Given the description of an element on the screen output the (x, y) to click on. 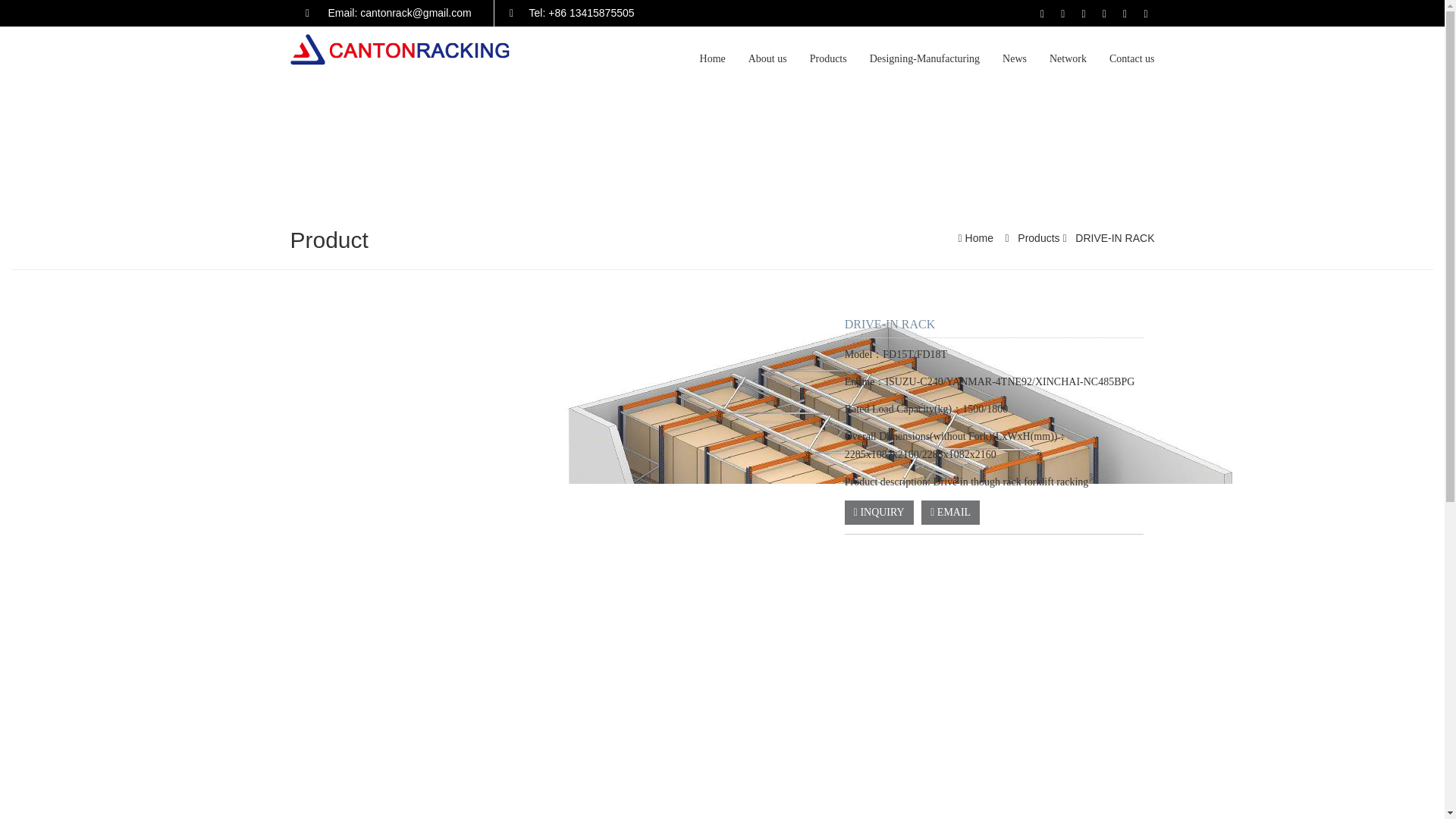
Home (712, 58)
Products (828, 58)
Designing-Manufacturing (925, 58)
Home (978, 237)
Contact us (1131, 58)
Network (1067, 58)
About us (766, 58)
